Given the description of an element on the screen output the (x, y) to click on. 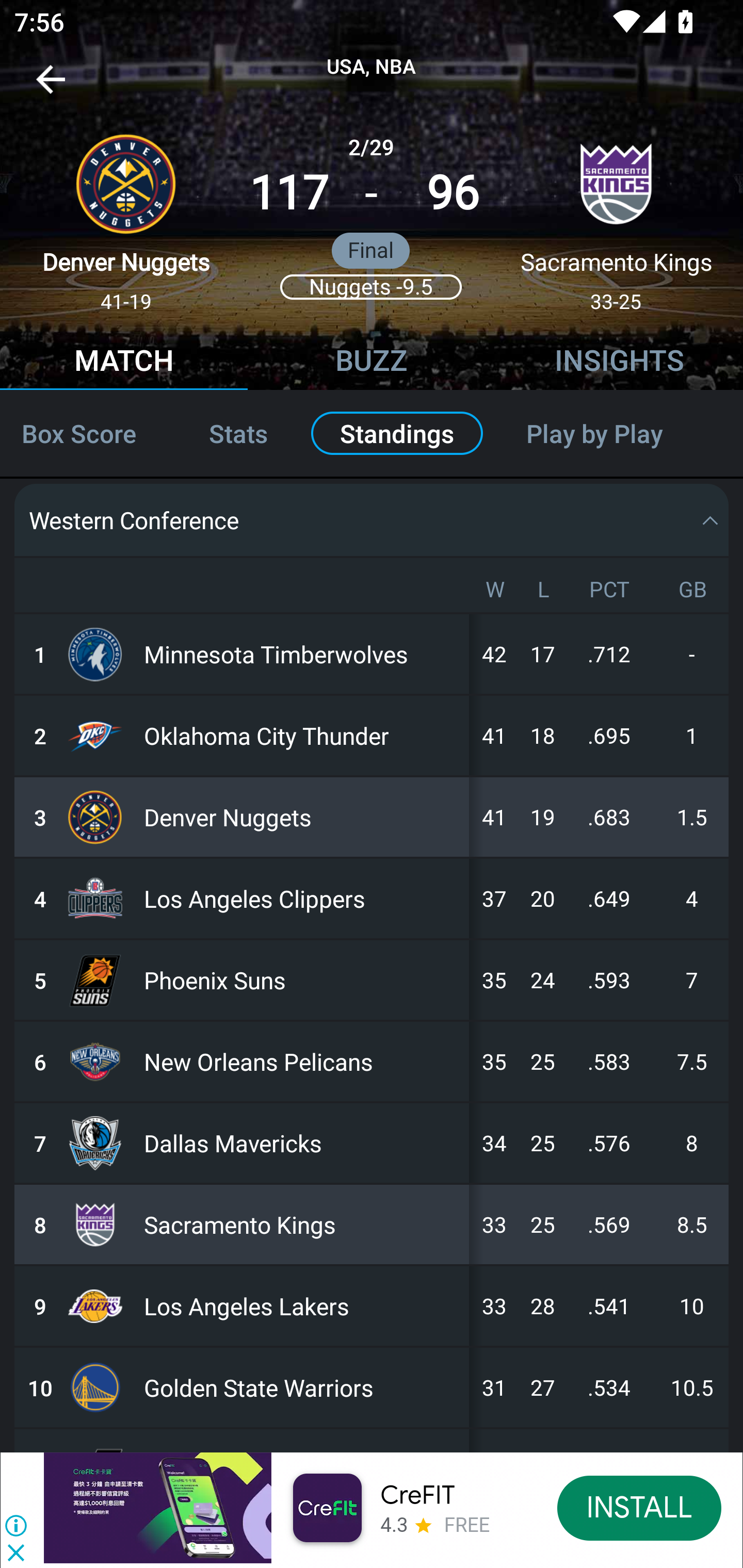
Navigate up (50, 86)
USA, NBA (371, 66)
Denver Nuggets 41-19 (126, 214)
Sacramento Kings 33-25 (616, 214)
117 (288, 192)
96 (453, 192)
MATCH (123, 362)
BUZZ (371, 362)
INSIGHTS (619, 362)
Box Score (86, 433)
Stats (238, 433)
Play by Play (616, 433)
Western Conference (371, 520)
1 Minnesota Timberwolves 42 17 .712 - (371, 653)
Minnesota Timberwolves (302, 653)
2 Oklahoma City Thunder 41 18 .695 1 (371, 735)
Oklahoma City Thunder (302, 735)
3 Denver Nuggets 41 19 .683 1.5 (371, 816)
Denver Nuggets (302, 816)
4 Los Angeles Clippers 37 20 .649 4 (371, 898)
Los Angeles Clippers (302, 898)
5 Phoenix Suns 35 24 .593 7 (371, 979)
Phoenix Suns (302, 979)
6 New Orleans Pelicans 35 25 .583 7.5 (371, 1061)
New Orleans Pelicans (302, 1061)
7 Dallas Mavericks 34 25 .576 8 (371, 1142)
Dallas Mavericks (302, 1142)
8 Sacramento Kings 33 25 .569 8.5 (371, 1224)
Sacramento Kings (302, 1224)
9 Los Angeles Lakers 33 28 .541 10 (371, 1305)
Los Angeles Lakers (302, 1305)
10 Golden State Warriors 31 27 .534 10.5 (371, 1387)
Golden State Warriors (302, 1387)
INSTALL (639, 1507)
CreFIT (417, 1494)
